Given the description of an element on the screen output the (x, y) to click on. 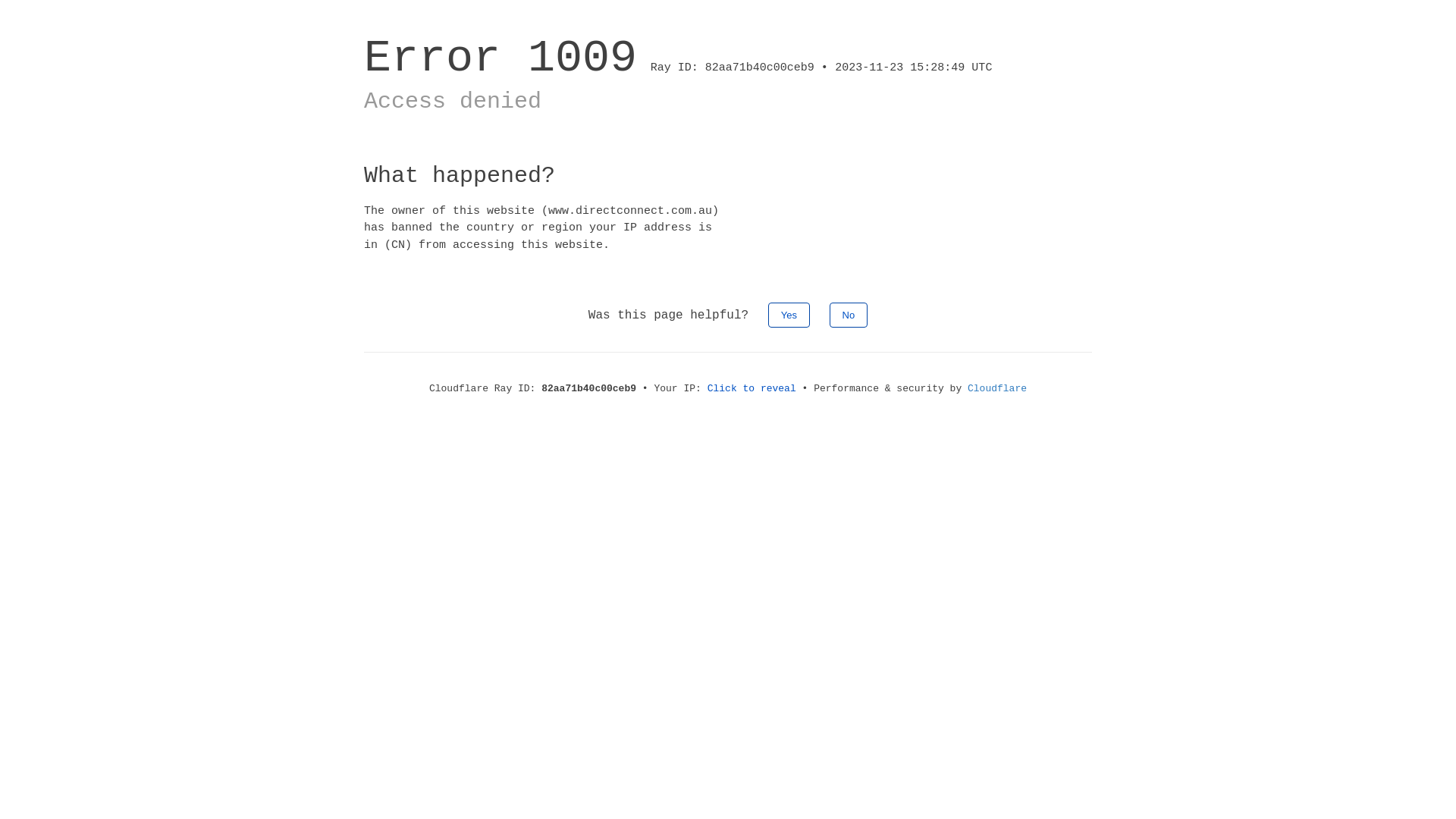
Click to reveal Element type: text (751, 388)
Yes Element type: text (788, 314)
No Element type: text (848, 314)
Cloudflare Element type: text (996, 388)
